Given the description of an element on the screen output the (x, y) to click on. 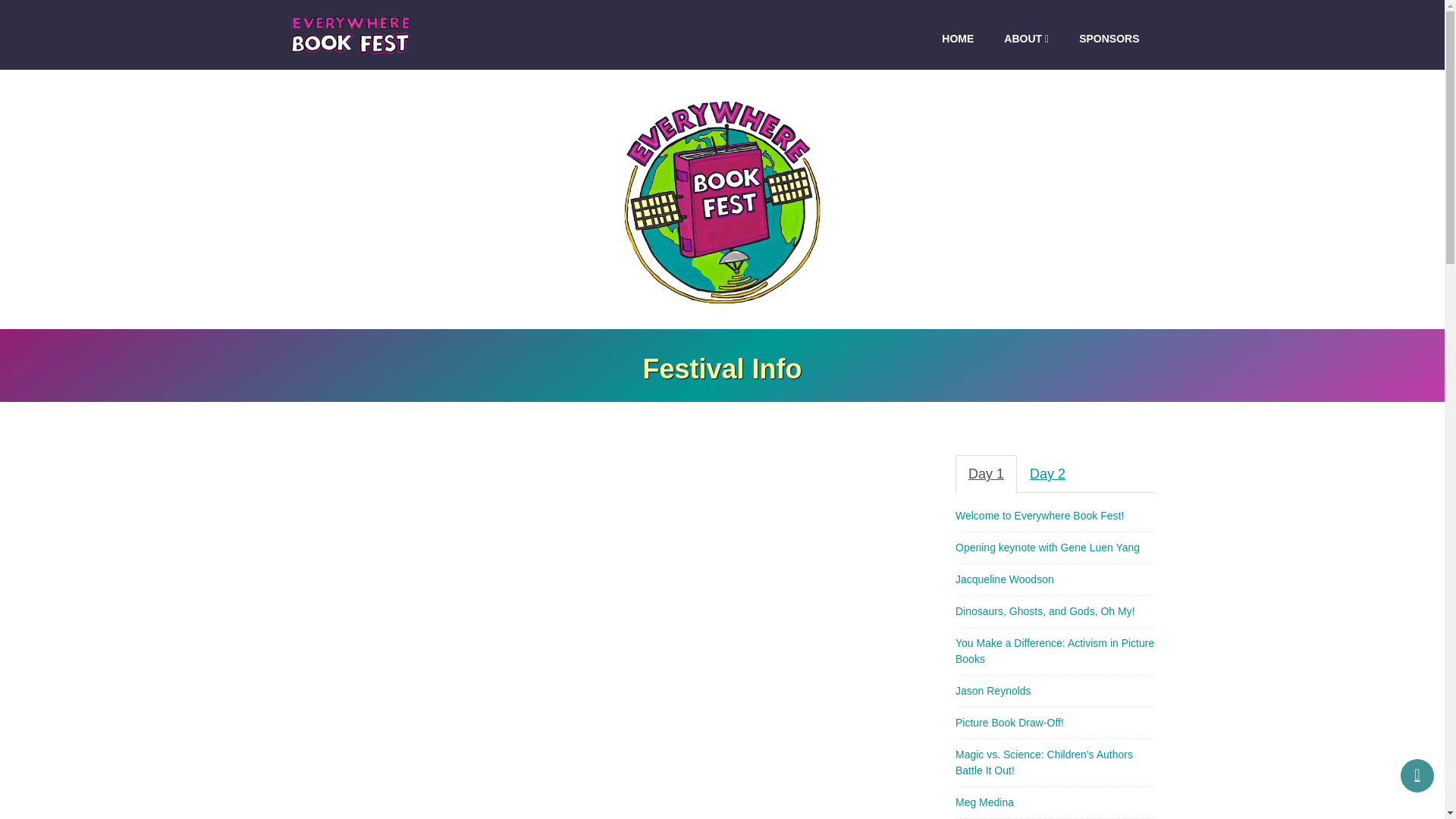
ABOUT (1026, 38)
Day 1 (985, 474)
HOME (957, 38)
Jacqueline Woodson (1004, 579)
SPONSORS (1109, 38)
Picture Book Draw-Off! (1009, 721)
Jason Reynolds (992, 689)
Day 2 (1047, 474)
You Make a Difference: Activism in Picture Books (1054, 651)
Dinosaurs, Ghosts, and Gods, Oh My! (1045, 611)
